Given the description of an element on the screen output the (x, y) to click on. 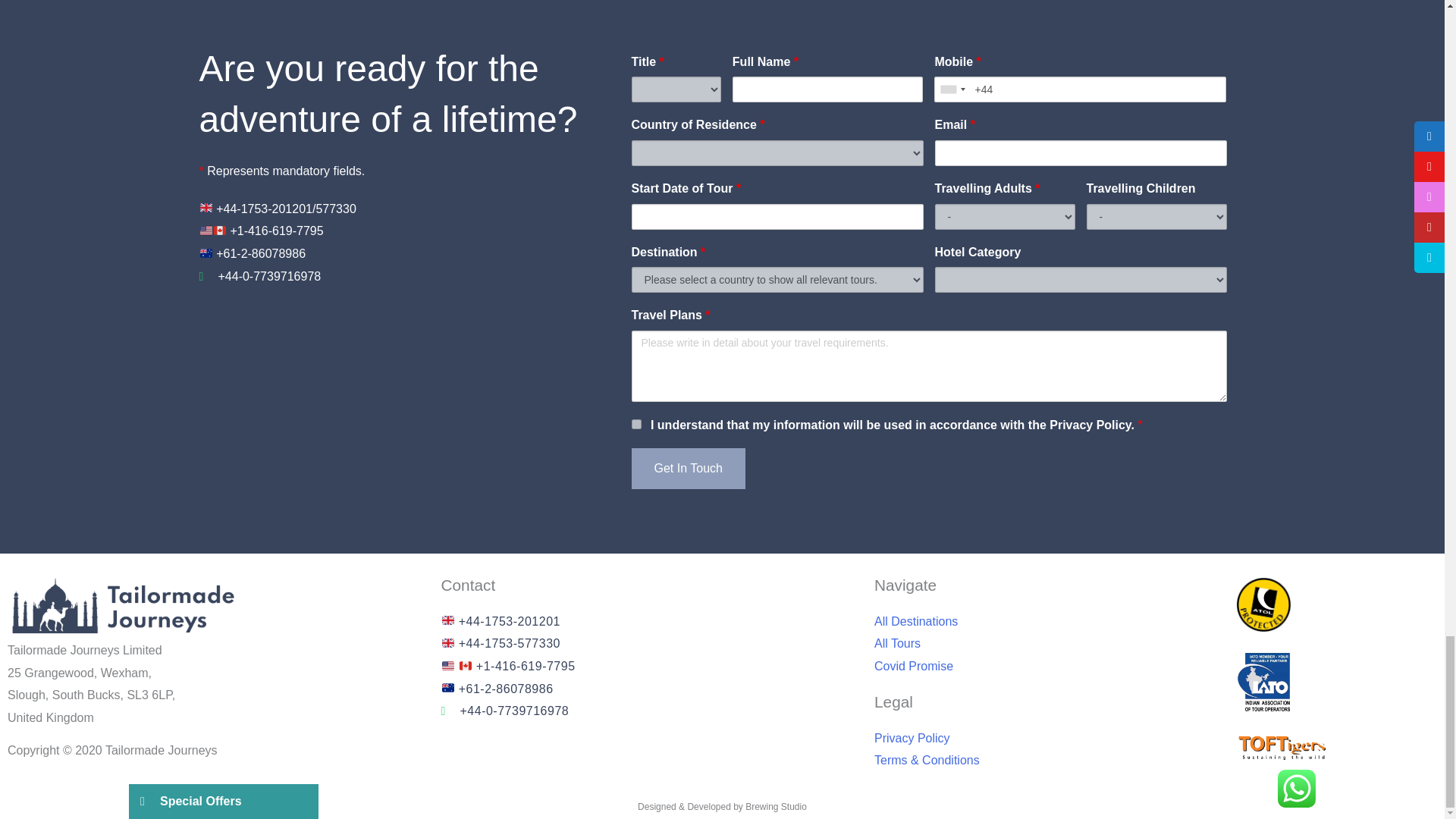
Privacy Policy Page (1093, 424)
1 (635, 424)
Get In Touch (687, 467)
